Given the description of an element on the screen output the (x, y) to click on. 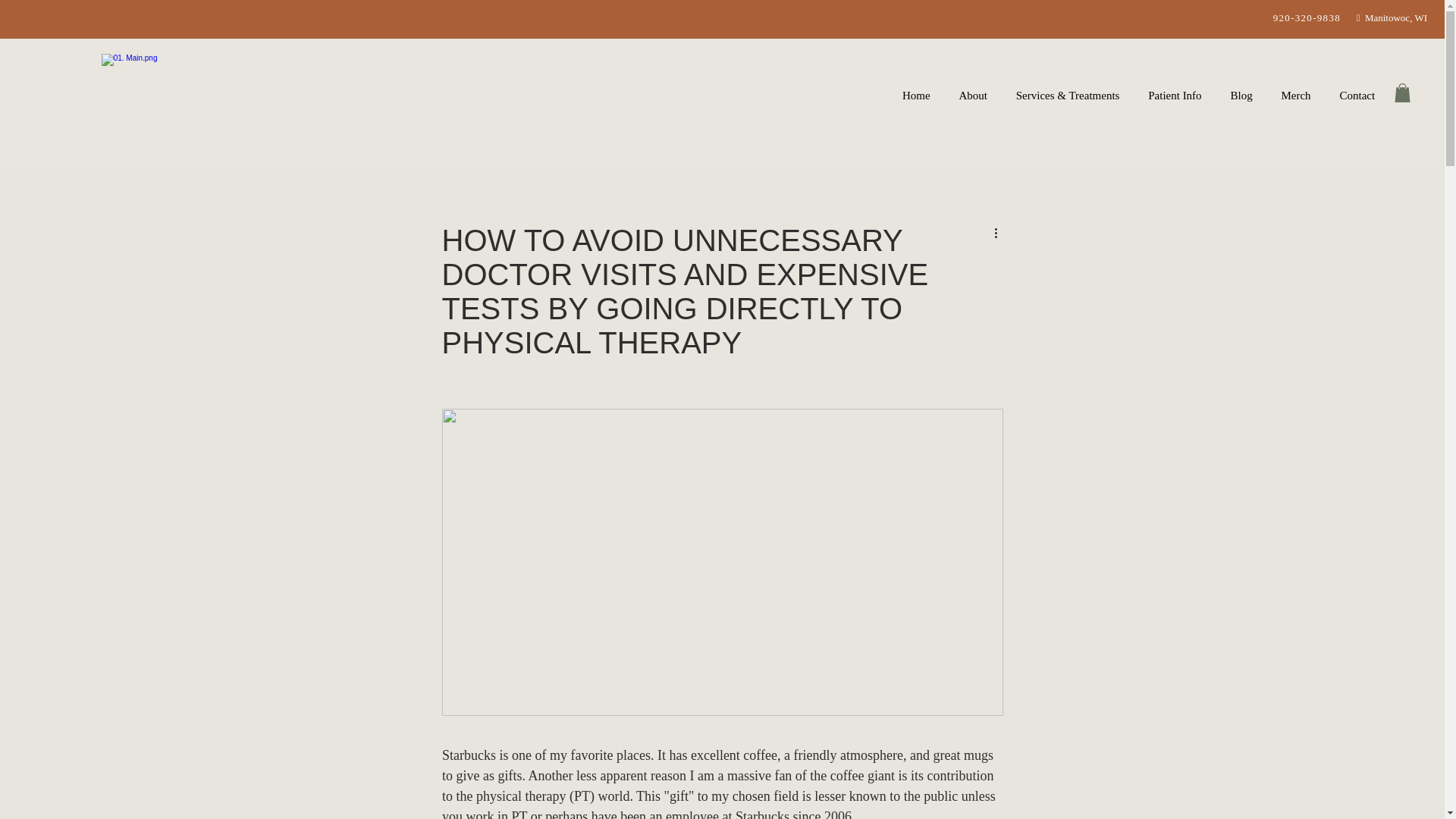
Merch (1295, 94)
About (972, 94)
Patient Info (1174, 94)
920-320-9838 (1306, 17)
Home (916, 94)
Contact (1356, 94)
Blog (1241, 94)
